Given the description of an element on the screen output the (x, y) to click on. 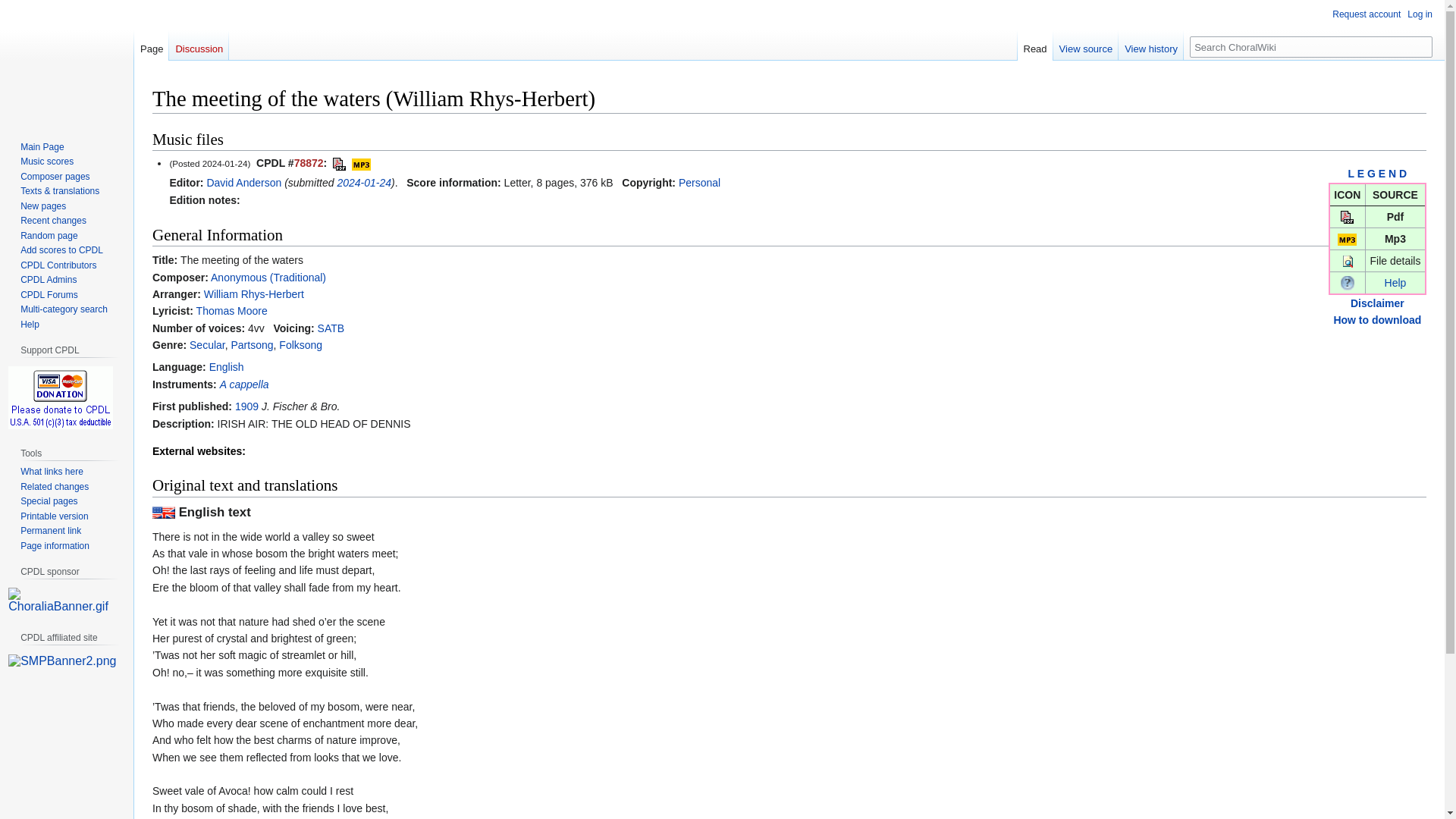
Disclaimer (1378, 303)
User:David Anderson (243, 182)
Help (1395, 282)
Thomas Moore (231, 310)
Thomas Moore (231, 310)
Category:Folksongs (300, 345)
Partsong (251, 345)
Category:Secular music (207, 345)
William Rhys-Herbert (253, 294)
Traditional (268, 277)
